Given the description of an element on the screen output the (x, y) to click on. 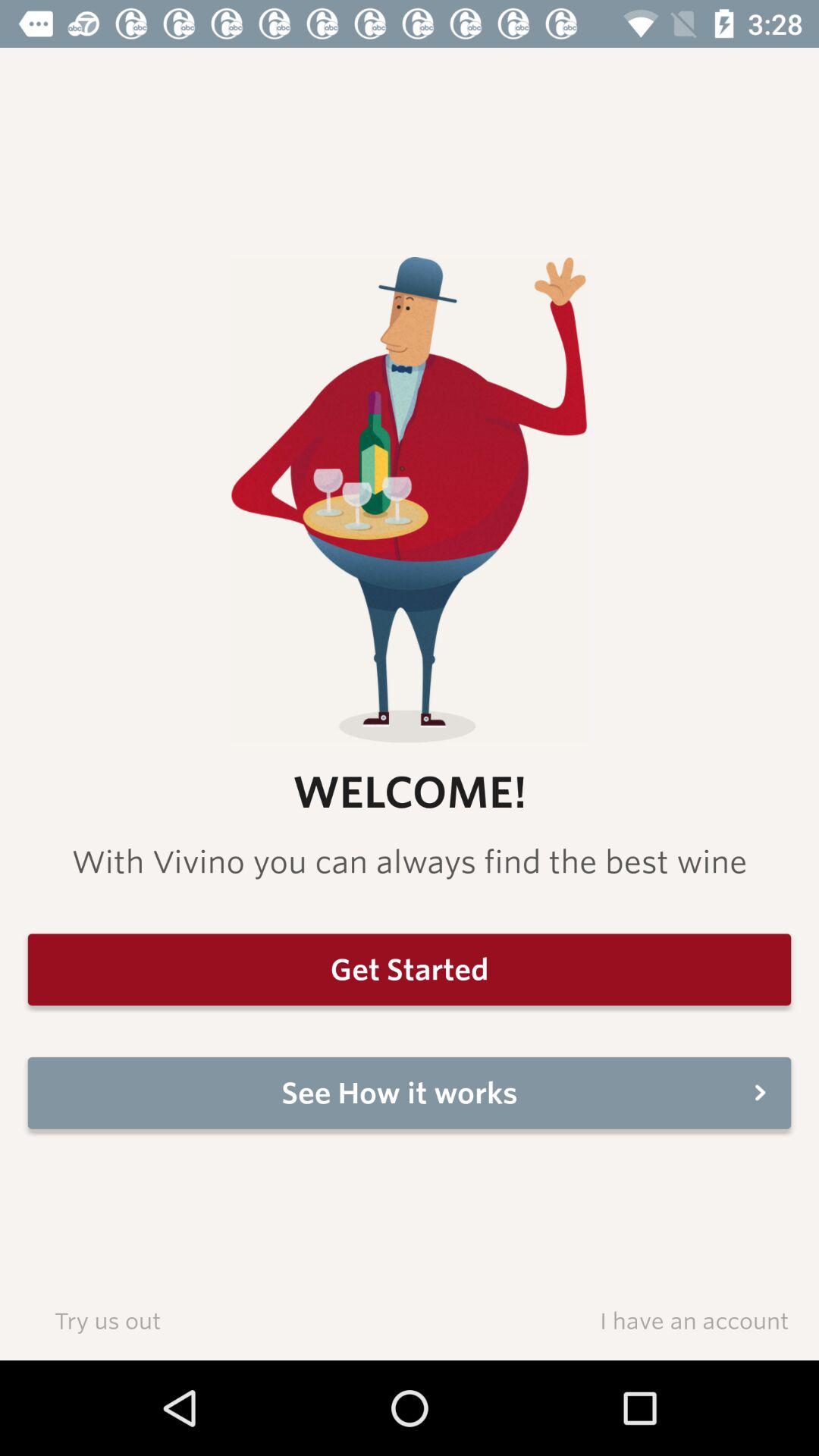
scroll to the try us out (107, 1320)
